Given the description of an element on the screen output the (x, y) to click on. 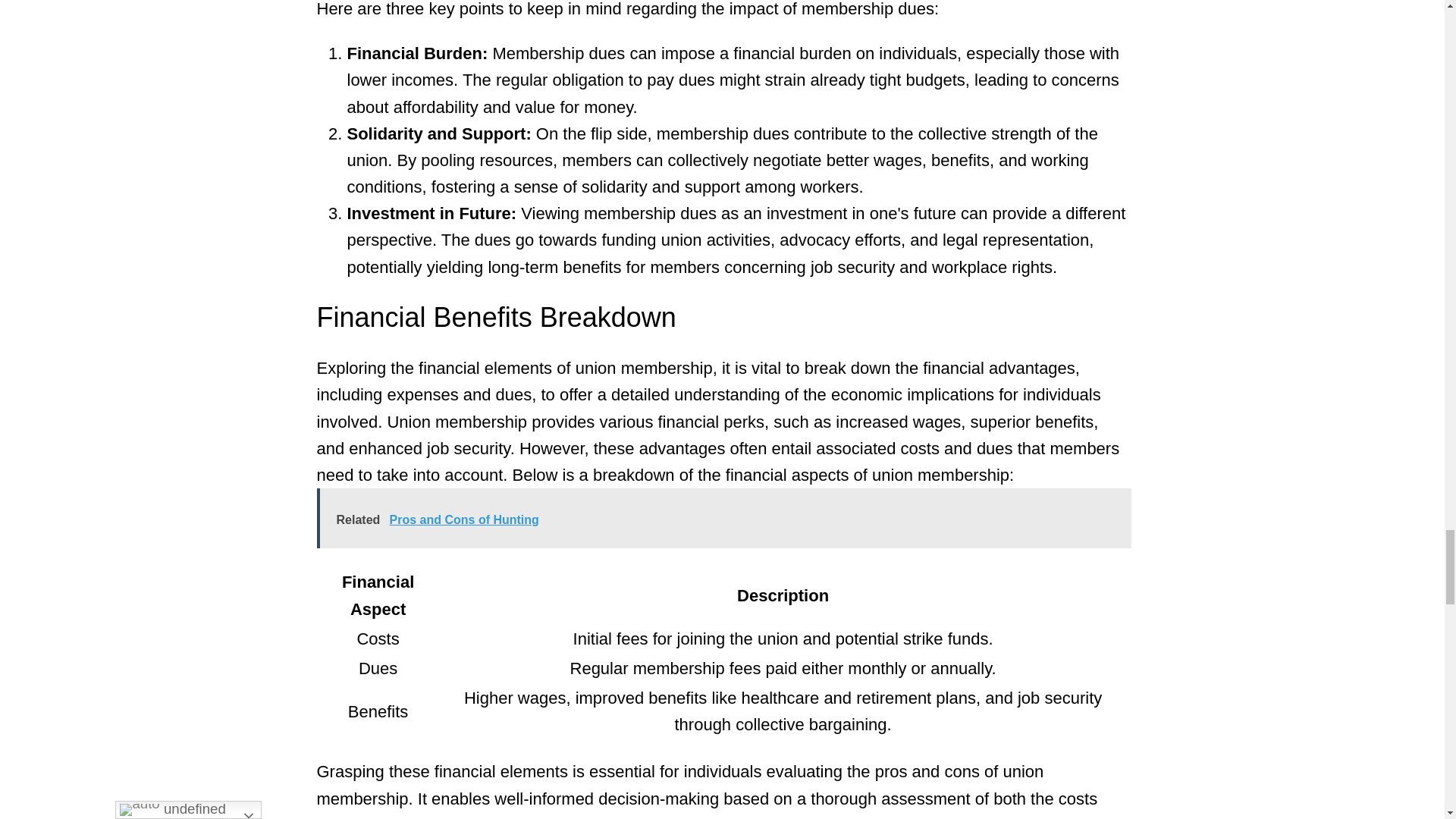
Related  Pros and Cons of Hunting (724, 517)
